Given the description of an element on the screen output the (x, y) to click on. 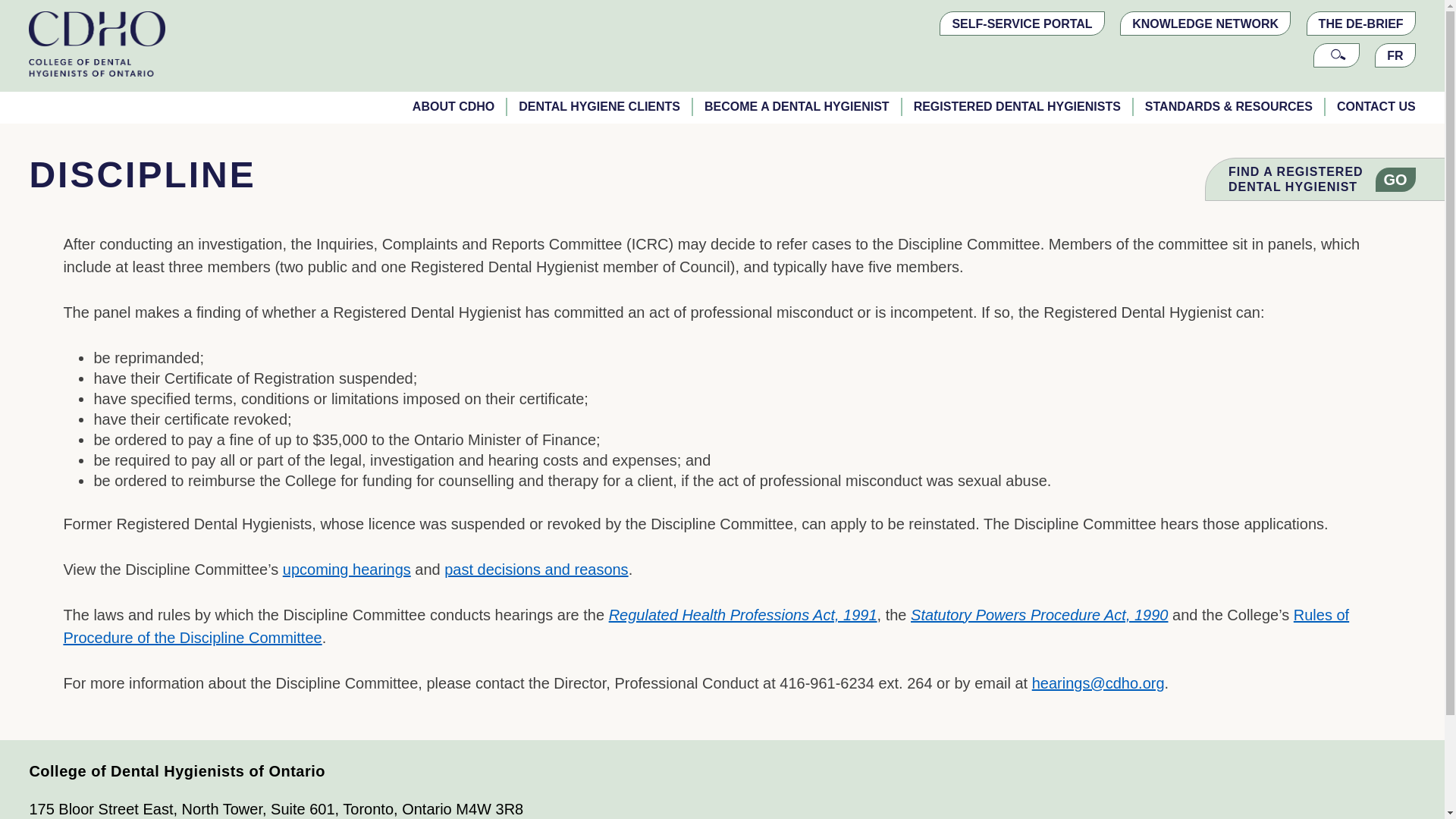
FR (1394, 55)
CDHO (97, 40)
SELF-SERVICE PORTAL (1021, 23)
DENTAL HYGIENE CLIENTS (598, 106)
BECOME A DENTAL HYGIENIST (796, 106)
KNOWLEDGE NETWORK (1204, 23)
THE DE-BRIEF (1360, 23)
REGISTERED DENTAL HYGIENISTS (1016, 106)
ABOUT CDHO (453, 106)
